Given the description of an element on the screen output the (x, y) to click on. 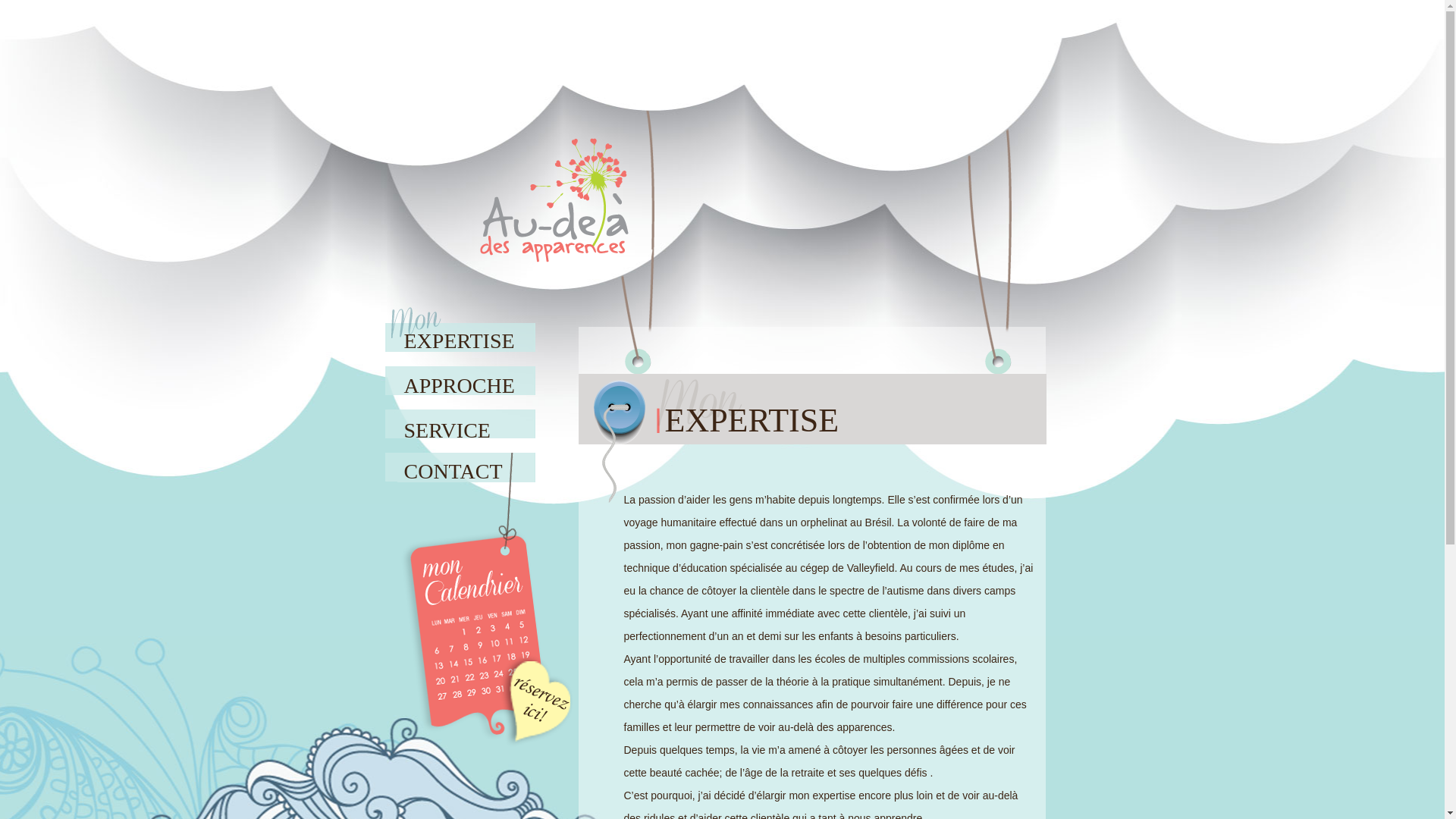
CONTACT Element type: text (462, 465)
APPROCHE Element type: text (462, 377)
EXPERTISE Element type: text (462, 332)
SERVICE Element type: text (462, 422)
